Given the description of an element on the screen output the (x, y) to click on. 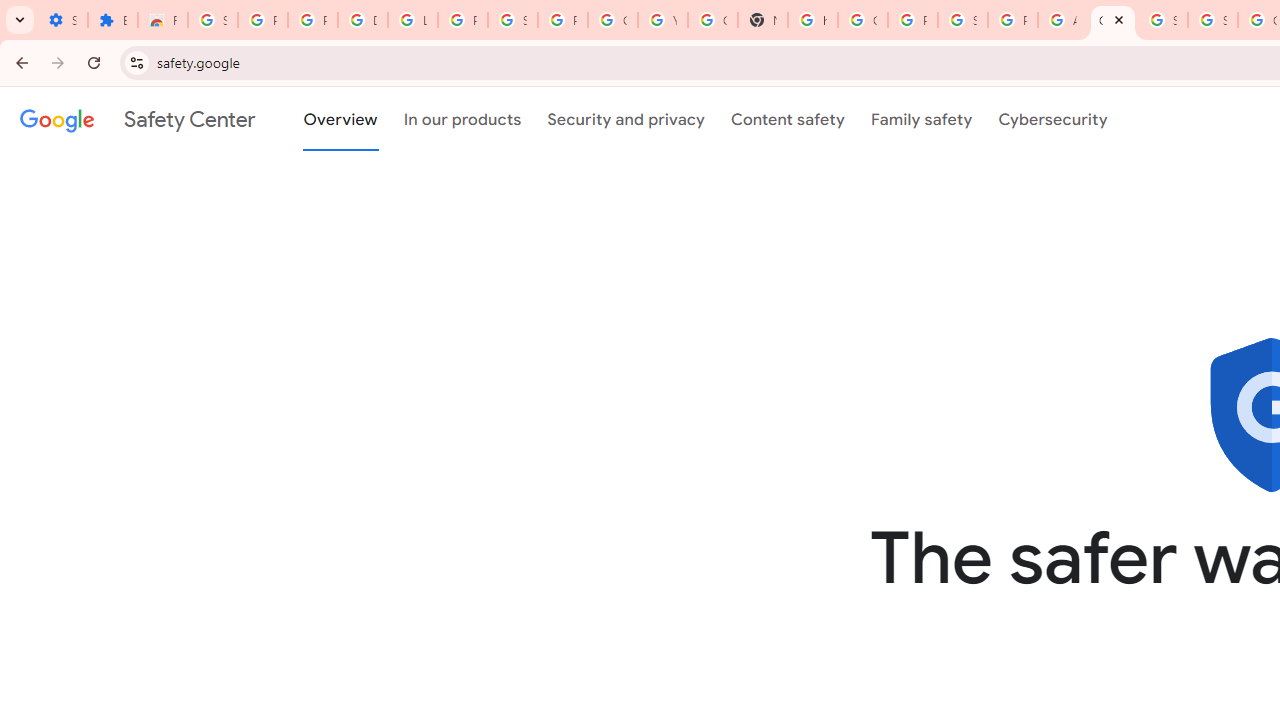
Sign in - Google Accounts (1162, 20)
Sign in - Google Accounts (512, 20)
Learn how to find your photos - Google Photos Help (412, 20)
Delete photos & videos - Computer - Google Photos Help (362, 20)
https://scholar.google.com/ (813, 20)
